Given the description of an element on the screen output the (x, y) to click on. 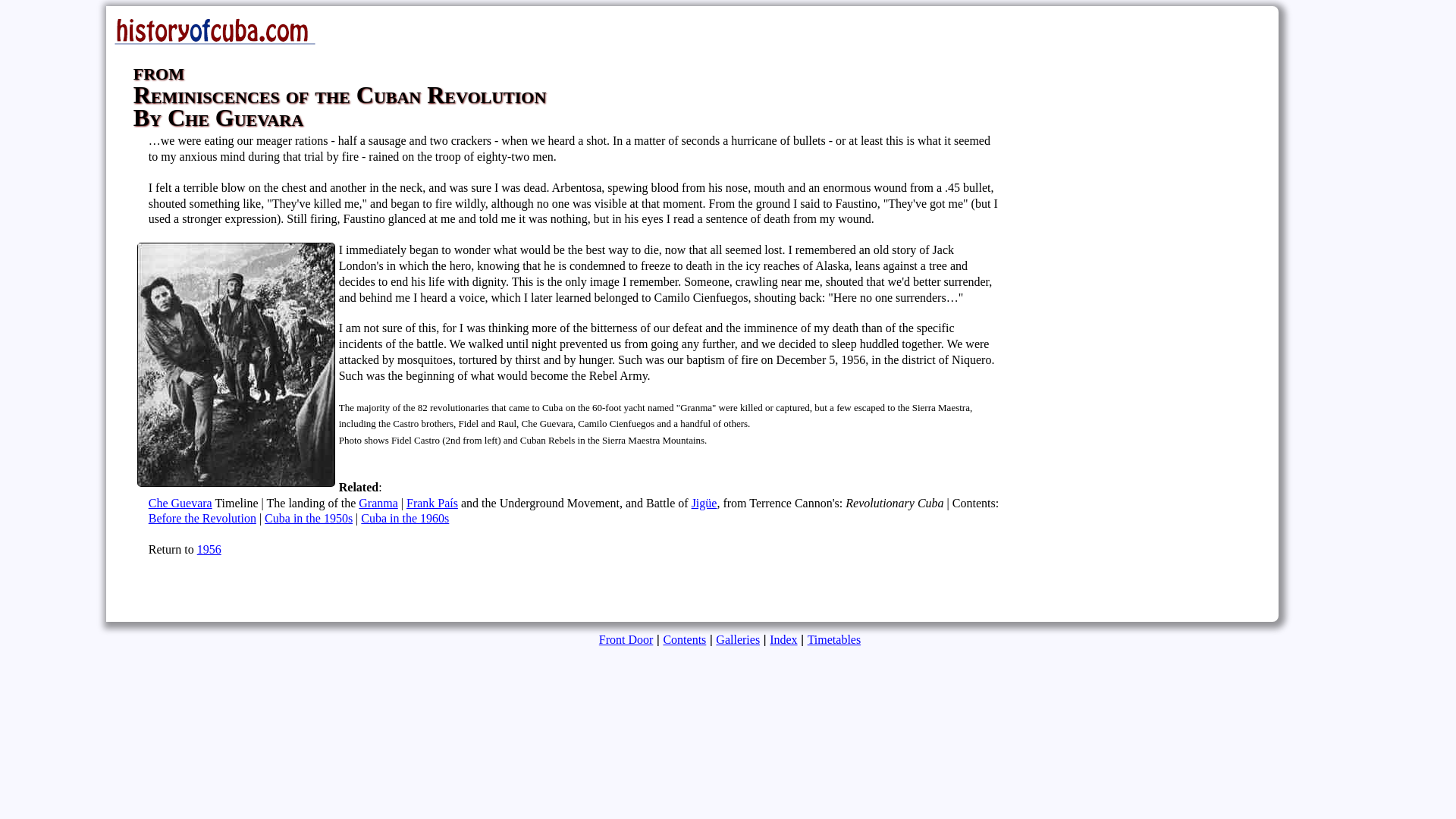
Galleries (738, 639)
1956 (208, 549)
Cuba in the 1960s (404, 517)
Advertisement (55, 234)
Contents (684, 639)
Timetables (834, 639)
Cuba in the 1950s (308, 517)
Index (783, 639)
Before the Revolution (202, 517)
Granma (377, 502)
Che Guevara (180, 502)
In the Sierra Maestra mountains (236, 364)
Advertisement (287, 592)
Front Door (625, 639)
